Given the description of an element on the screen output the (x, y) to click on. 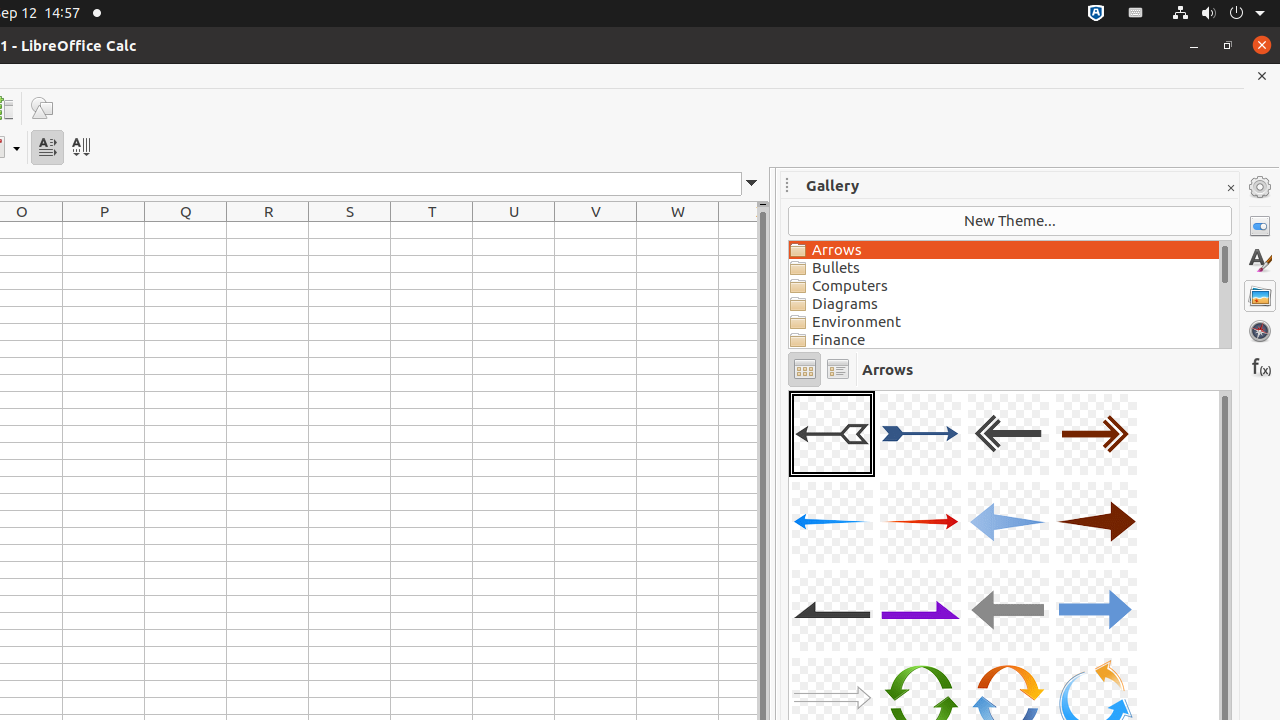
Environment Element type: list-item (1004, 322)
Navigator Element type: radio-button (1260, 331)
A04-Arrow-DarkRed-Right Element type: list-item (1096, 433)
:1.21/StatusNotifierItem Element type: menu (1136, 13)
Functions Element type: radio-button (1260, 366)
